Given the description of an element on the screen output the (x, y) to click on. 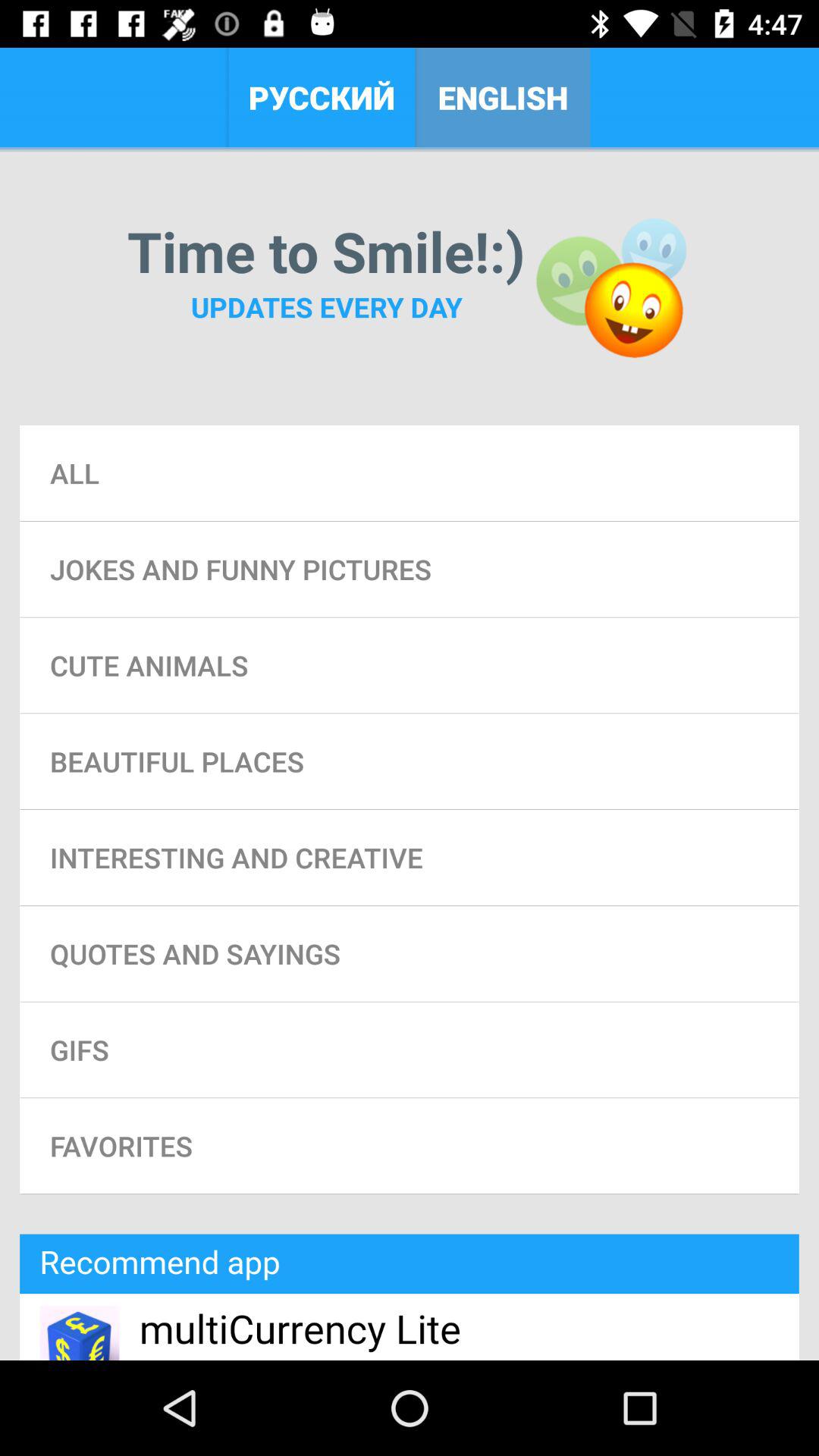
swipe until the favorites (409, 1145)
